Given the description of an element on the screen output the (x, y) to click on. 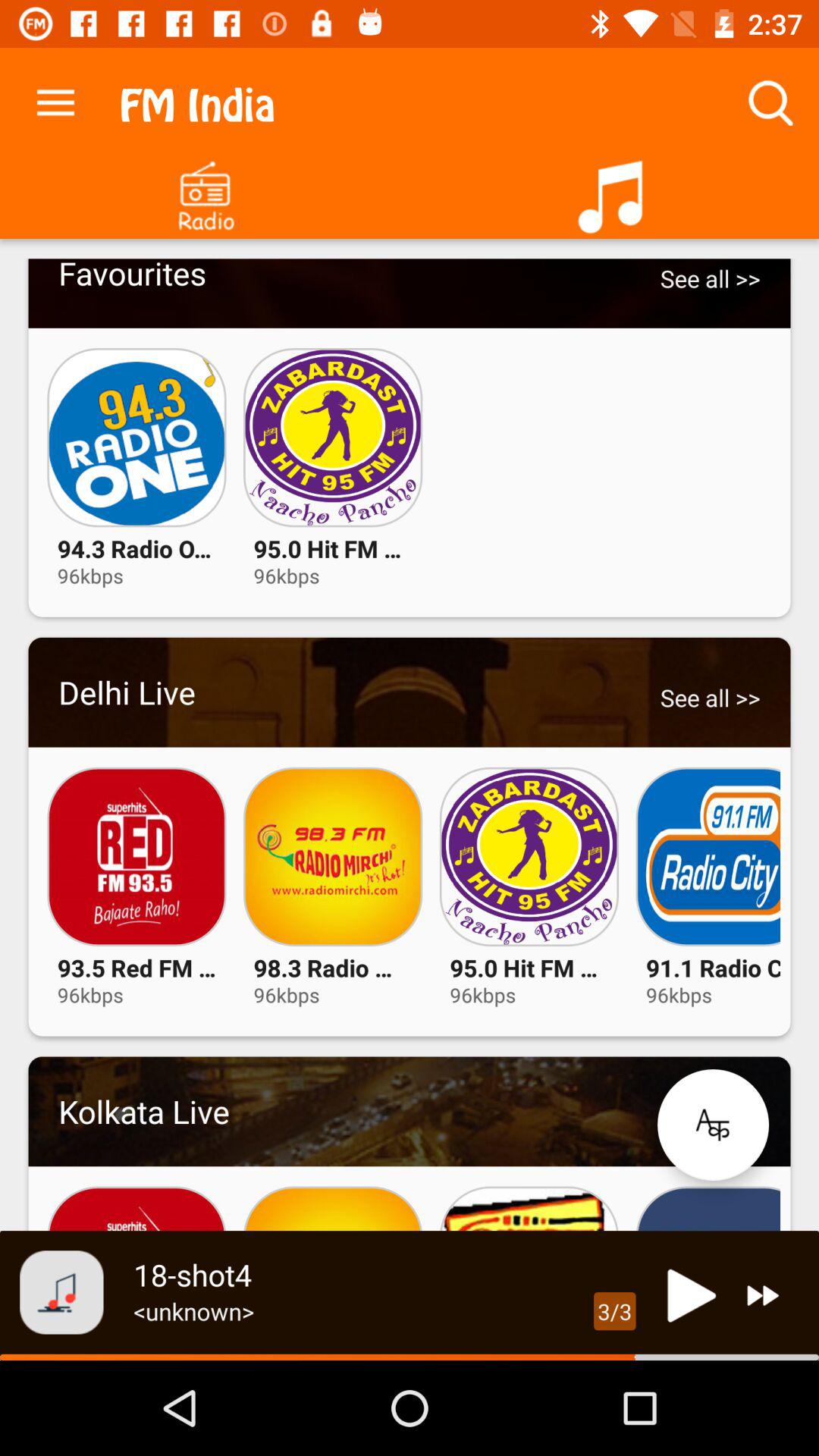
view music (614, 190)
